Given the description of an element on the screen output the (x, y) to click on. 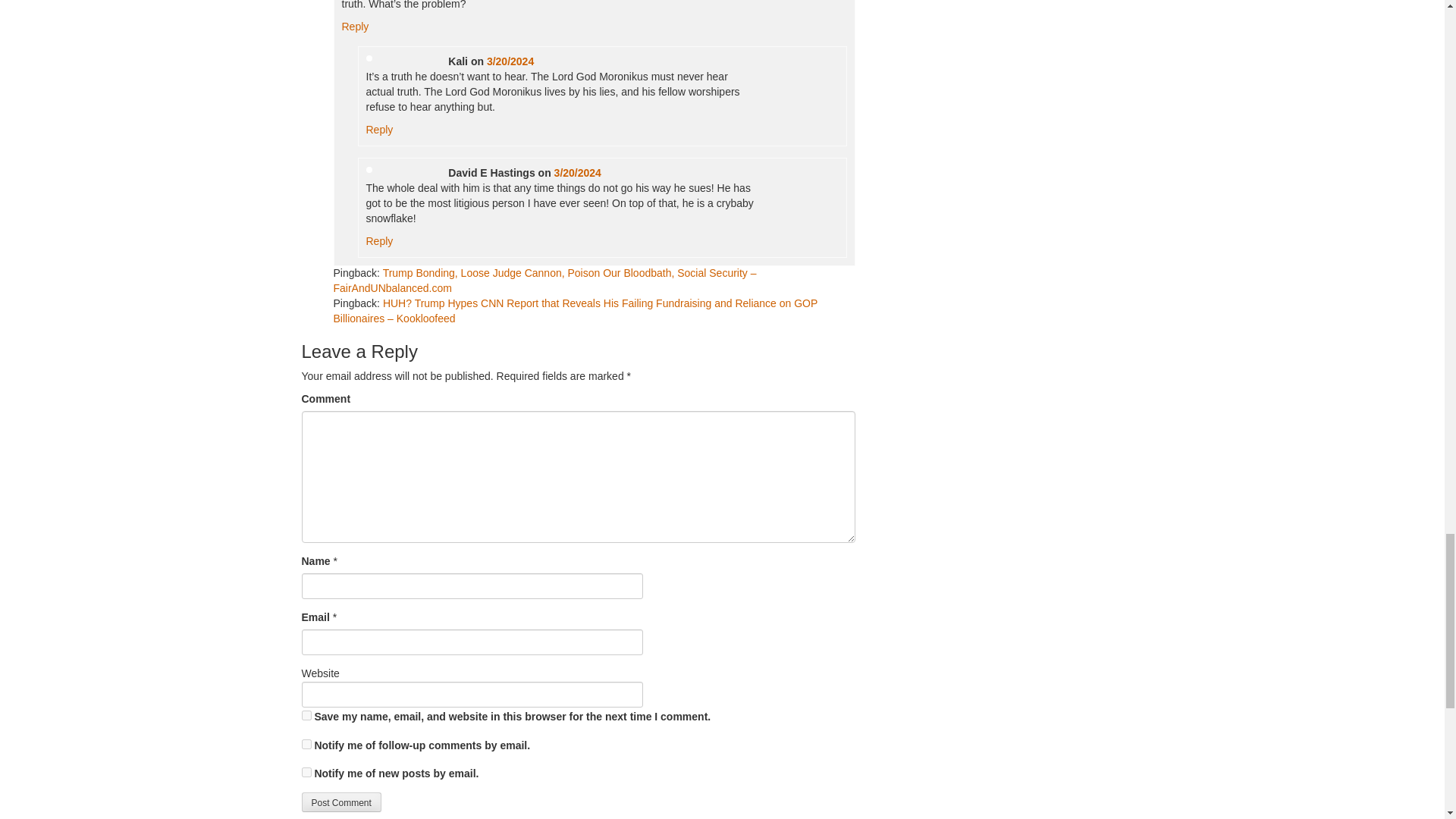
subscribe (306, 772)
subscribe (306, 744)
yes (306, 715)
Post Comment (341, 802)
